Given the description of an element on the screen output the (x, y) to click on. 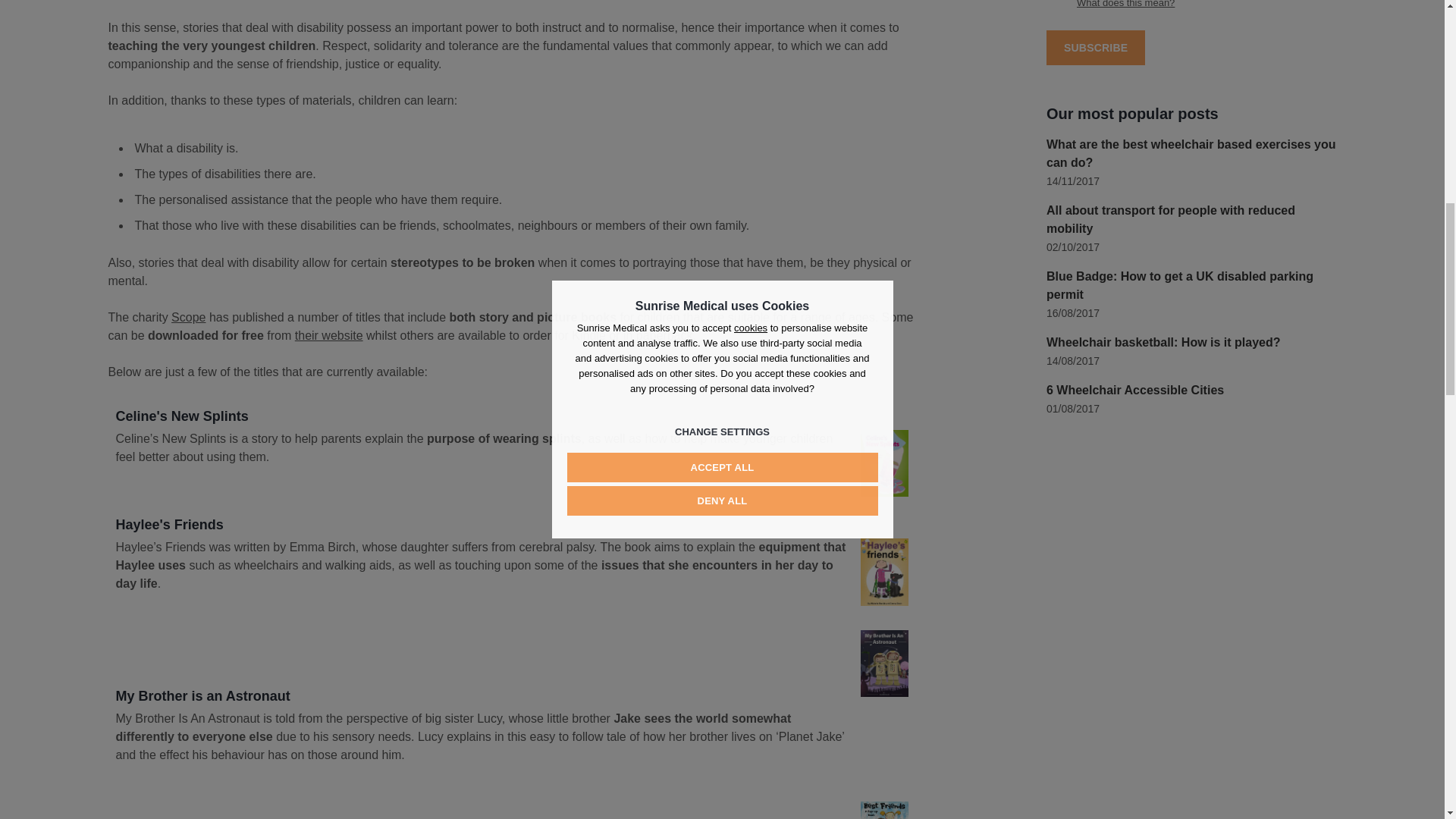
Haylees-Friends.jpg (883, 571)
Subscribe (1095, 47)
my-brother-is-astronaut.jpg (883, 662)
best-friends.jpg (883, 810)
Celine-s-New-Splints.jpg (883, 462)
